Given the description of an element on the screen output the (x, y) to click on. 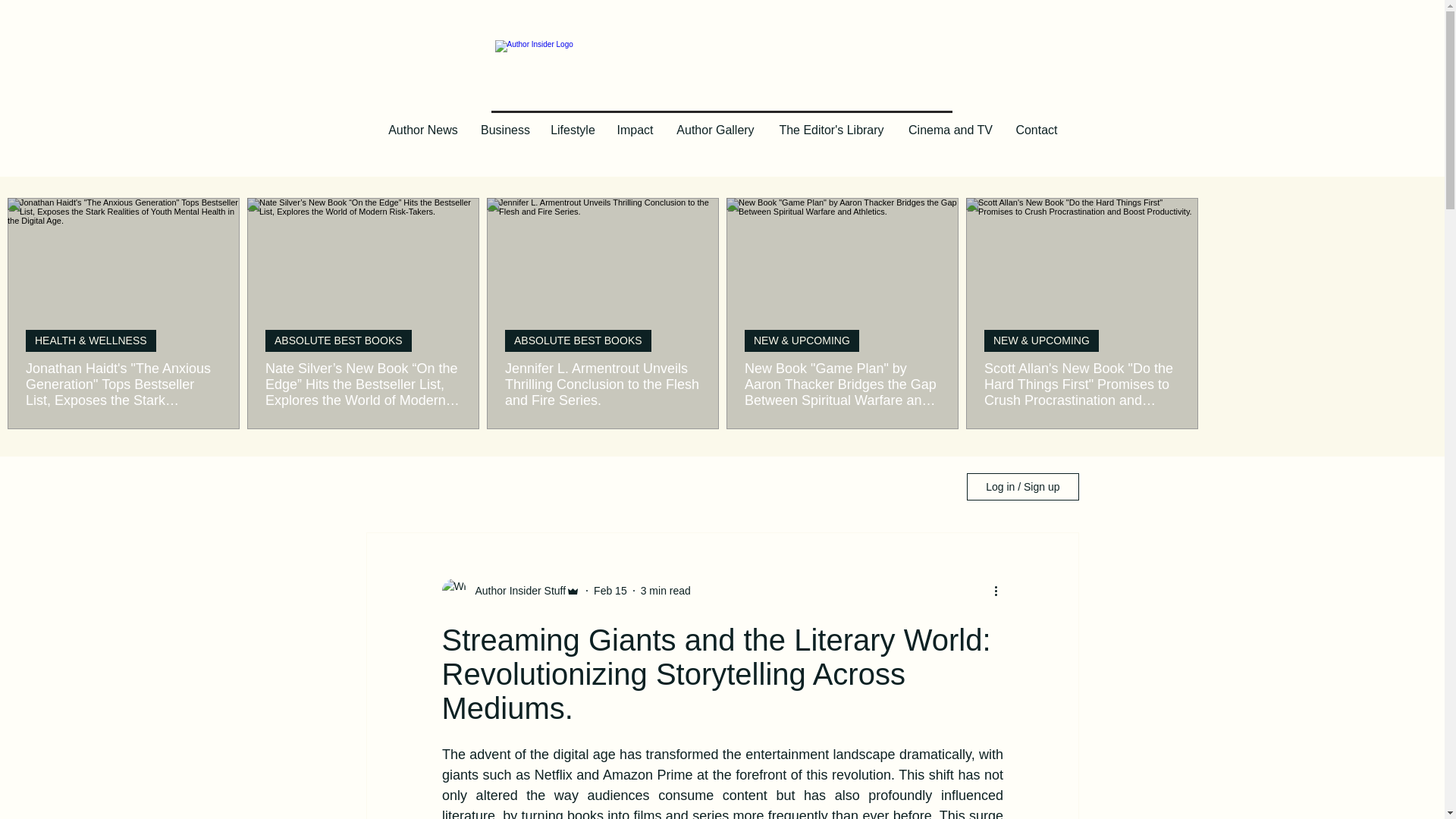
3 min read (665, 589)
Author Insider Stuff (515, 590)
Lifestyle (572, 129)
ABSOLUTE BEST BOOKS (577, 341)
Feb 15 (610, 589)
Author News (422, 129)
Business (505, 129)
Cinema and TV (950, 129)
